Given the description of an element on the screen output the (x, y) to click on. 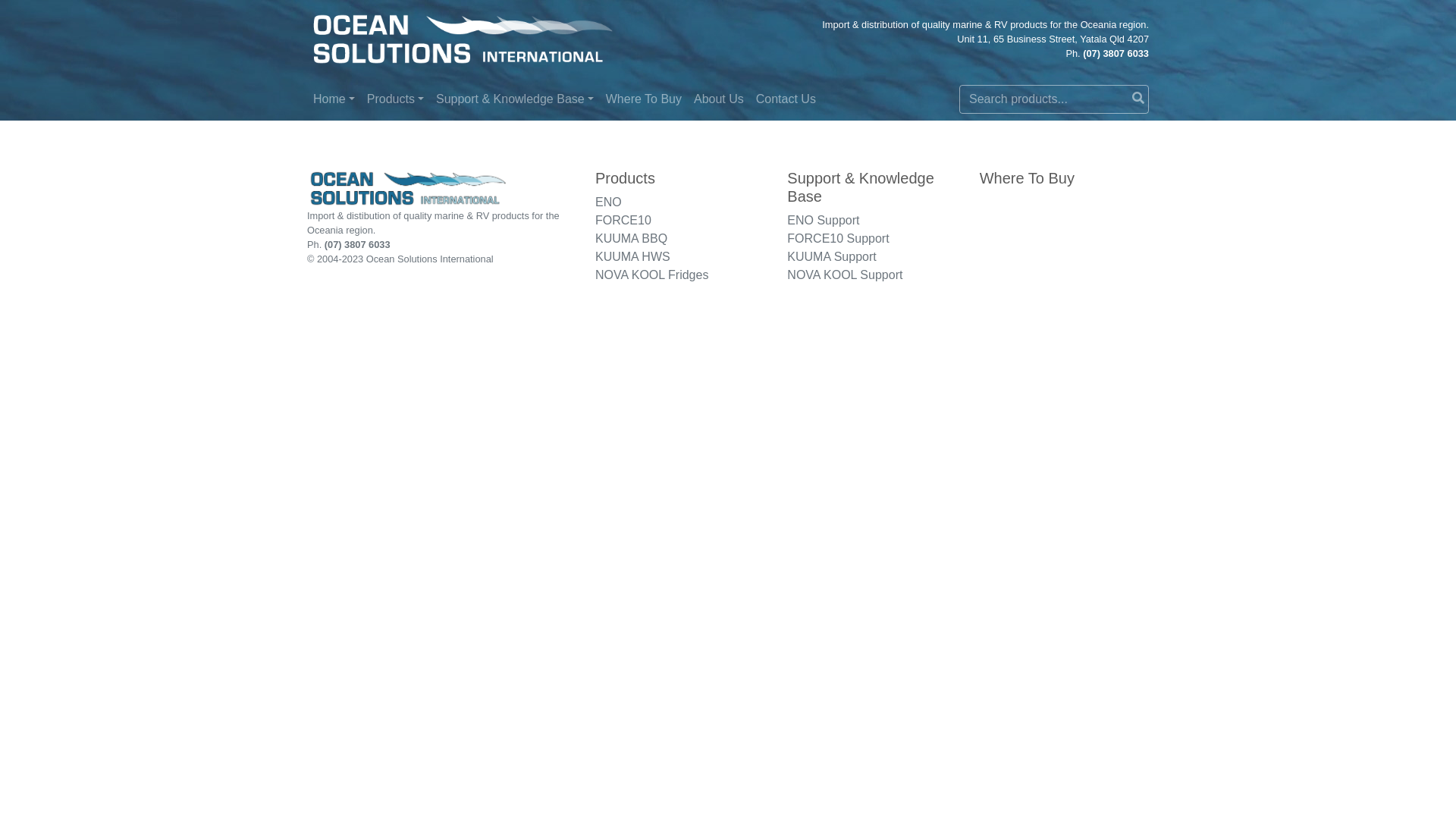
NOVA KOOL Support Element type: text (844, 274)
Home Element type: text (333, 99)
KUUMA Support Element type: text (831, 256)
KUUMA HWS Element type: text (632, 256)
NOVA KOOL Fridges Element type: text (651, 274)
About Us Element type: text (718, 99)
Contact Us Element type: text (785, 99)
FORCE10 Support Element type: text (837, 238)
FORCE10 Element type: text (623, 219)
ENO Support Element type: text (823, 219)
Where To Buy Element type: text (643, 99)
Products Element type: text (394, 99)
KUUMA BBQ Element type: text (631, 238)
Support & Knowledge Base Element type: text (514, 99)
ENO Element type: text (608, 201)
